Given the description of an element on the screen output the (x, y) to click on. 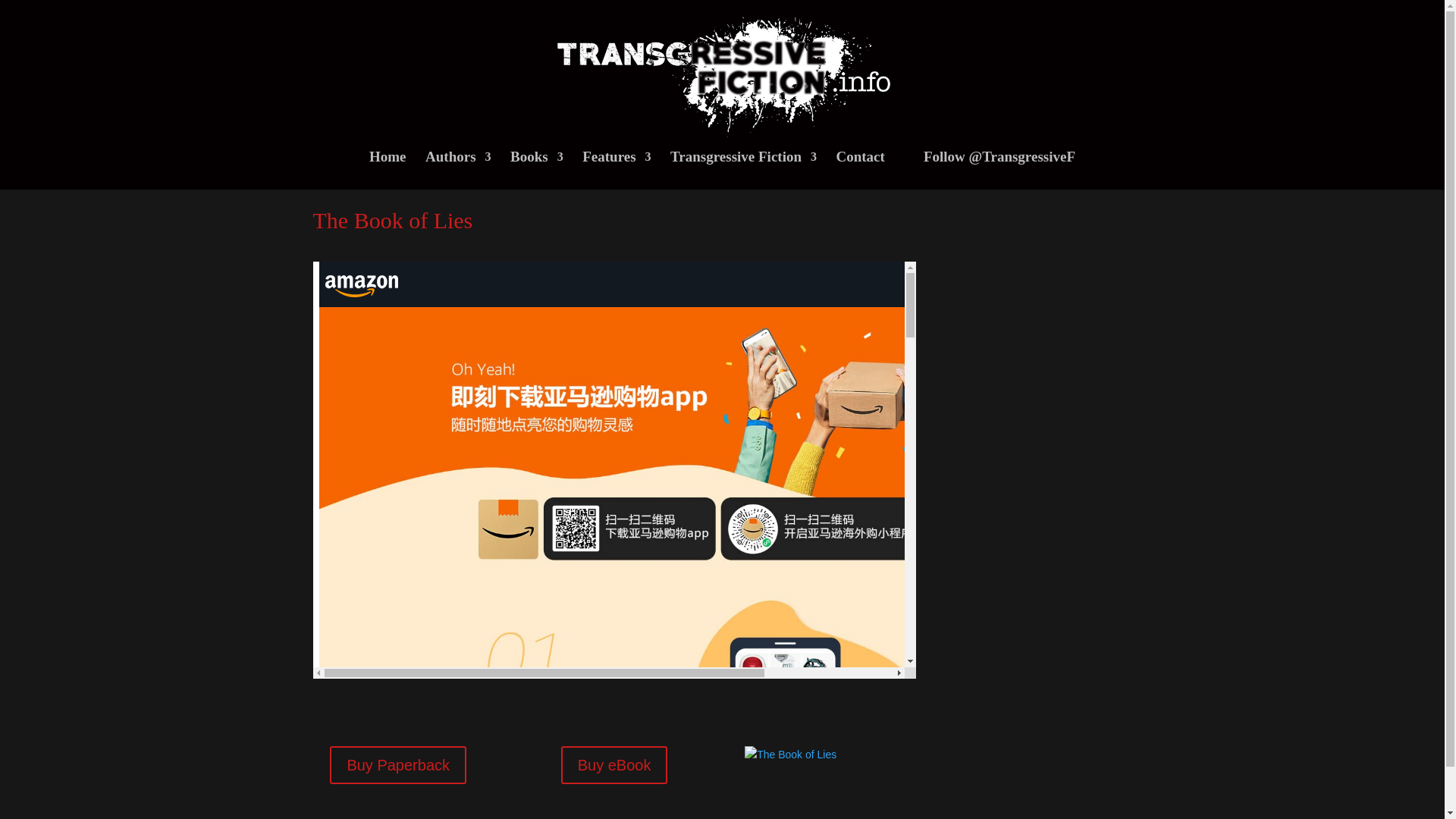
Buy Paperback (397, 764)
Books (537, 170)
Features (616, 170)
Contact (859, 170)
Home (387, 170)
Transgressive Fiction (742, 170)
Authors (458, 170)
Buy eBook (614, 764)
